Given the description of an element on the screen output the (x, y) to click on. 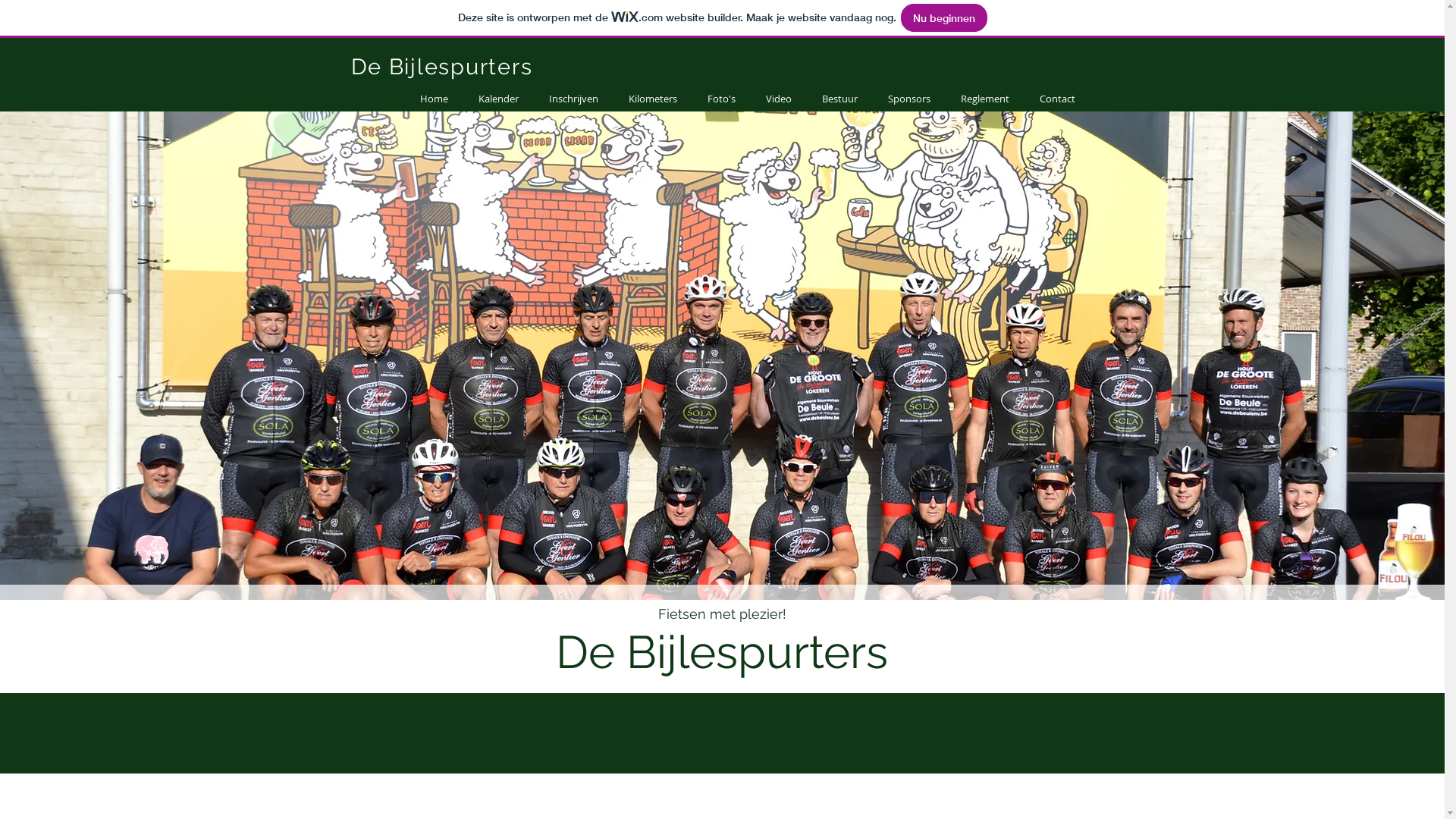
Home Element type: text (433, 98)
Foto's Element type: text (720, 98)
Kalender Element type: text (497, 98)
Sponsors Element type: text (908, 98)
Reglement Element type: text (983, 98)
Kilometers Element type: text (651, 98)
Video Element type: text (778, 98)
Contact Element type: text (1056, 98)
Bestuur Element type: text (839, 98)
De Bijlespurters Element type: text (441, 66)
Inschrijven Element type: text (573, 98)
